Given the description of an element on the screen output the (x, y) to click on. 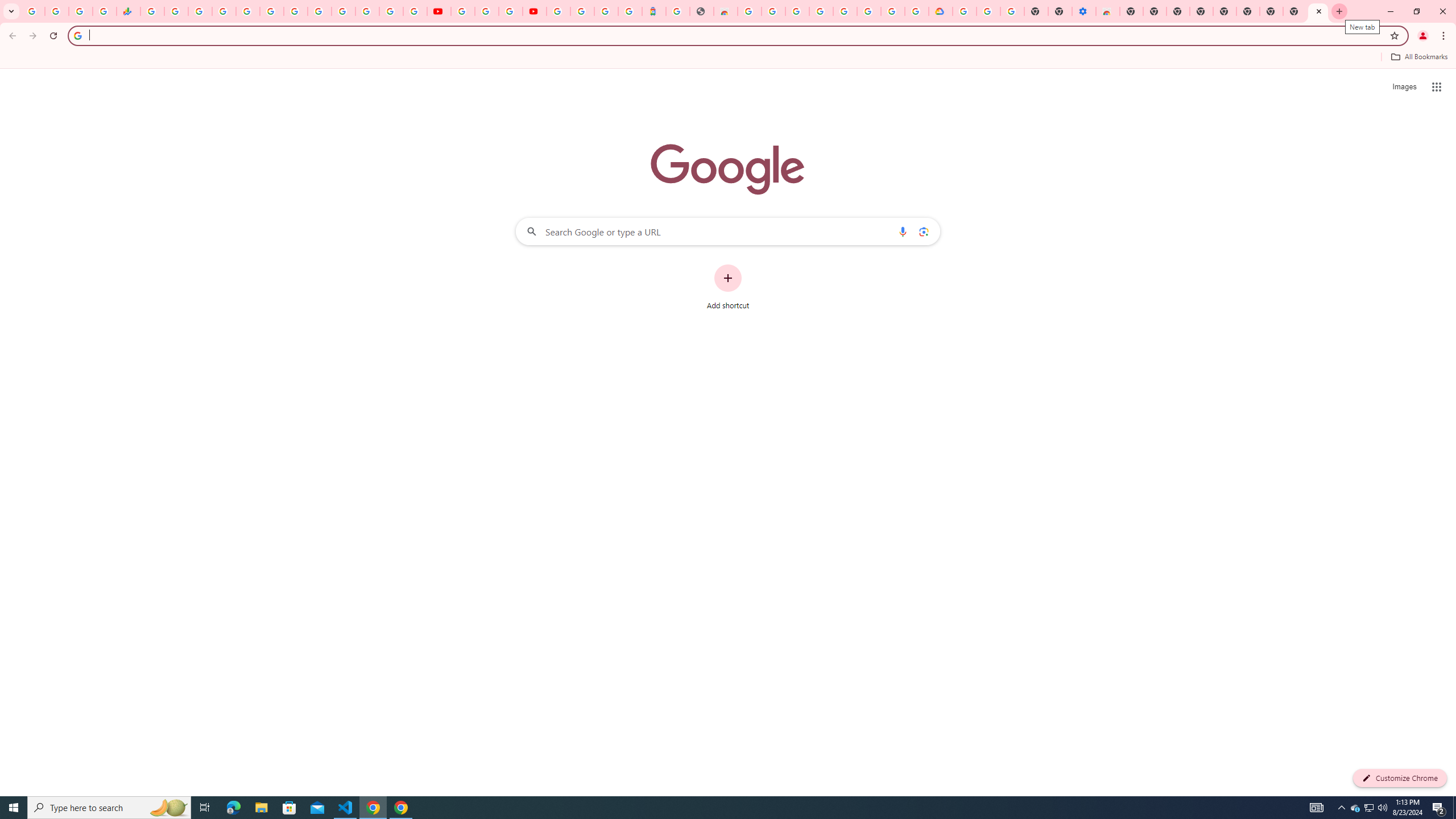
New Tab (1131, 11)
Sign in - Google Accounts (964, 11)
Sign in - Google Accounts (820, 11)
Settings - Accessibility (1083, 11)
Google Account Help (486, 11)
Sign in - Google Accounts (558, 11)
Atour Hotel - Google hotels (654, 11)
Customize Chrome (1399, 778)
Browse the Google Chrome Community - Google Chrome Community (916, 11)
